Given the description of an element on the screen output the (x, y) to click on. 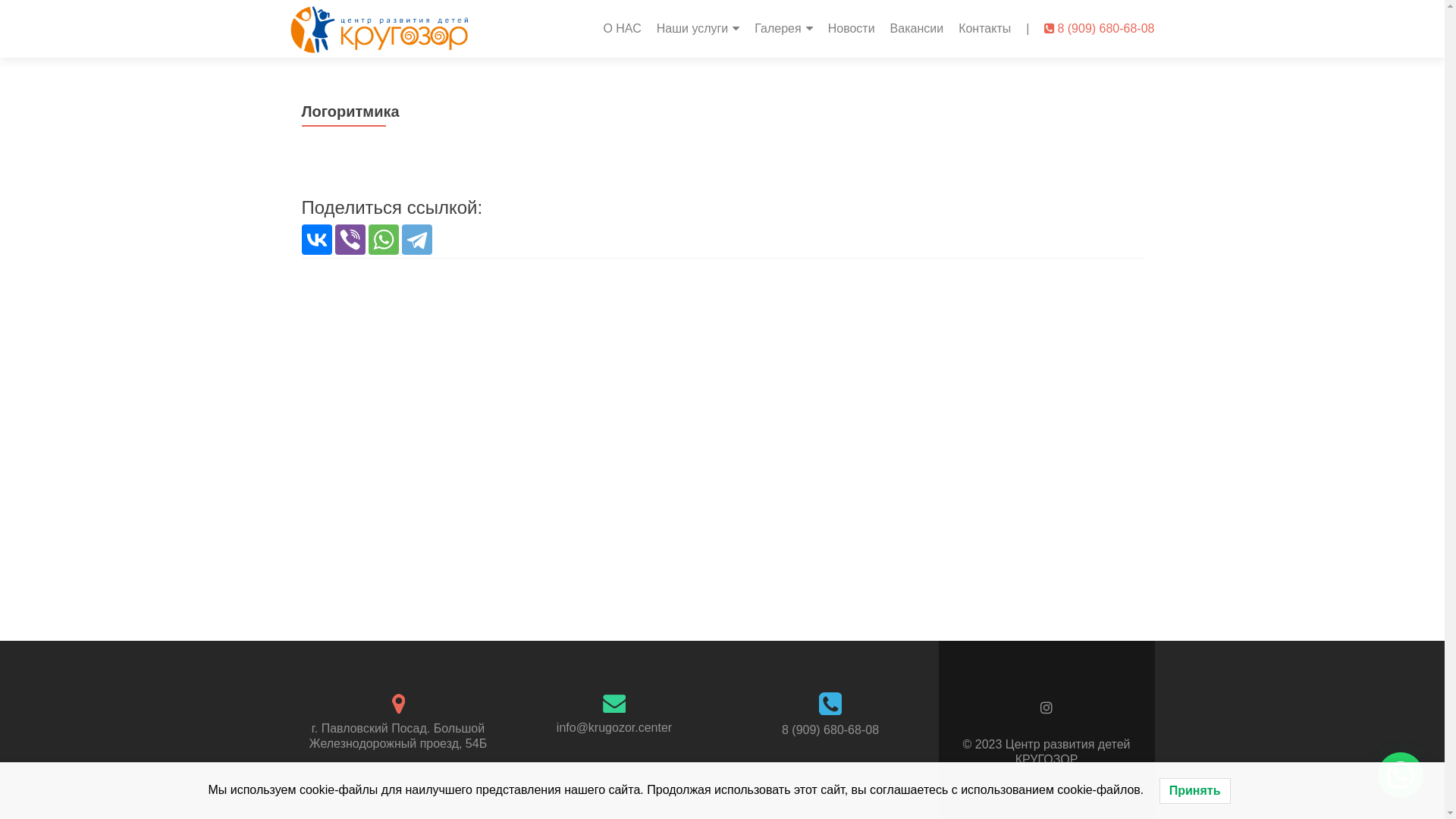
Viber Element type: hover (350, 239)
| Element type: text (1027, 28)
8 (909) 680-68-08 Element type: text (1099, 28)
WhatsApp Element type: hover (383, 239)
Telegram Element type: hover (416, 239)
Instagram link Element type: hover (1046, 706)
